Given the description of an element on the screen output the (x, y) to click on. 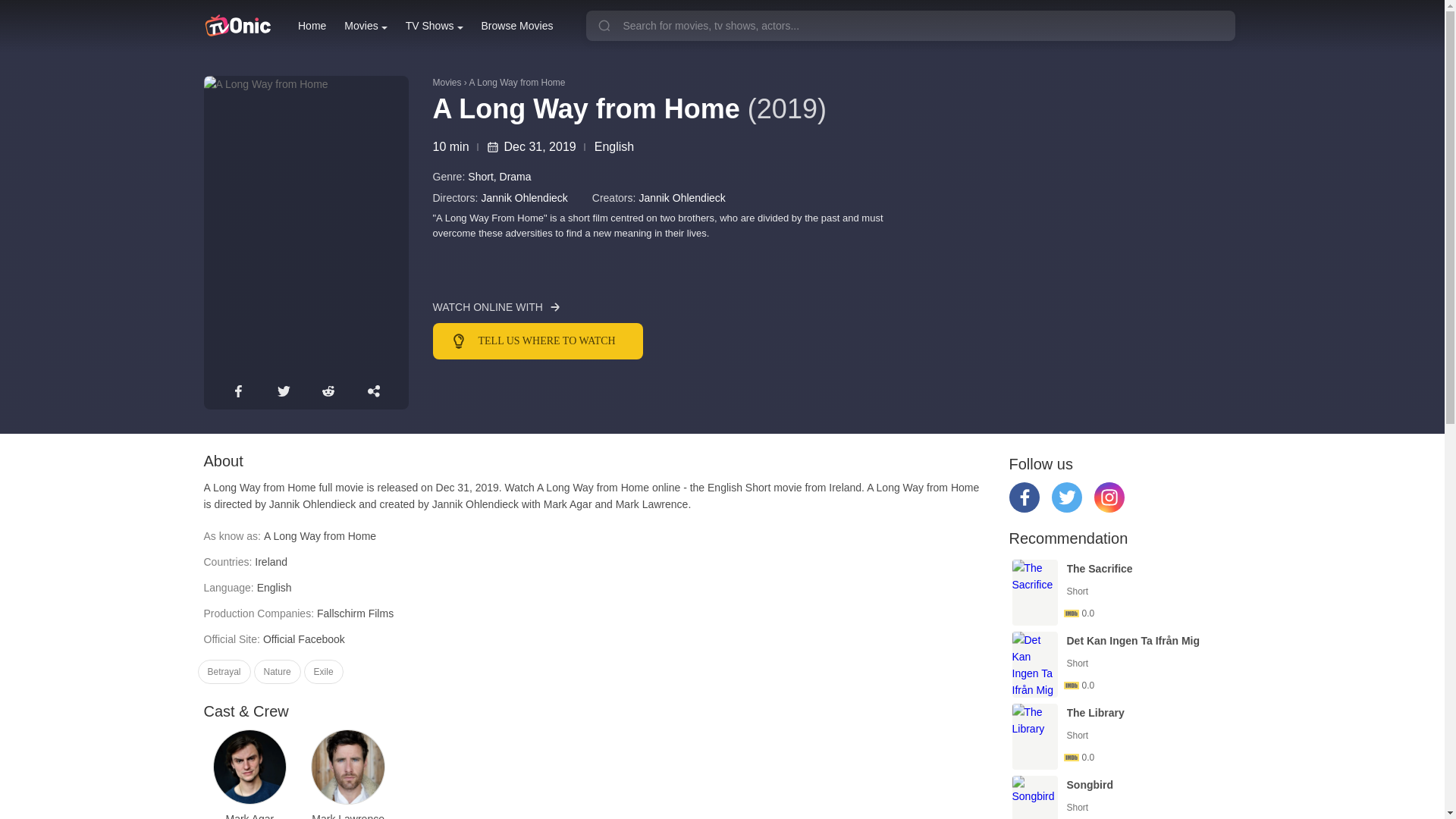
Home (312, 25)
TVOnic (236, 25)
Movies (365, 25)
TELL US WHERE TO WATCH (647, 340)
TV Shows (434, 25)
Movies (365, 25)
